Given the description of an element on the screen output the (x, y) to click on. 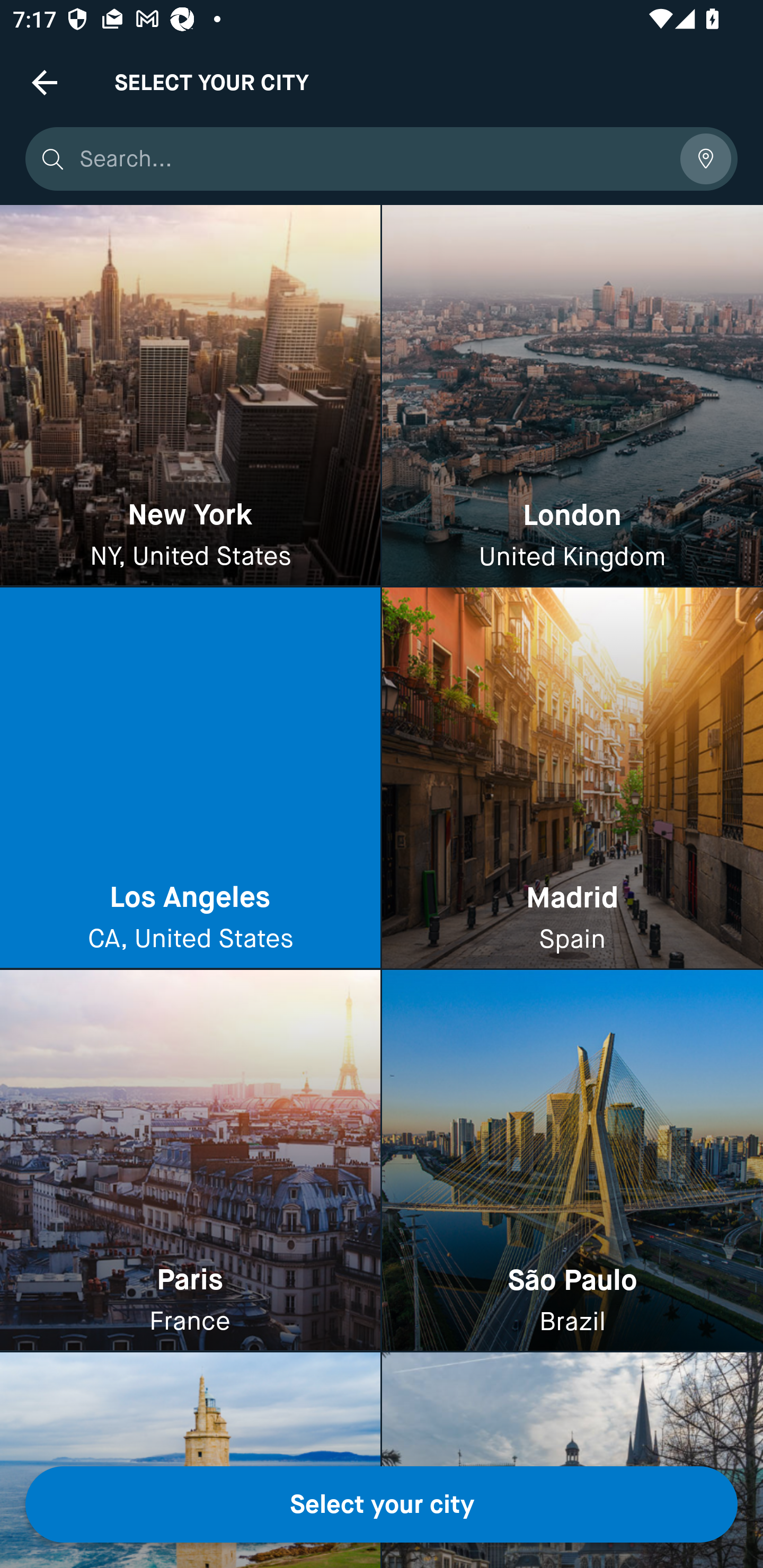
Navigate up (44, 82)
Search... (373, 159)
New York NY, United States (190, 395)
London United Kingdom (572, 395)
Los Angeles CA, United States (190, 778)
Madrid Spain (572, 778)
Paris France (190, 1160)
São Paulo Brazil (572, 1160)
Select your city (381, 1504)
